Given the description of an element on the screen output the (x, y) to click on. 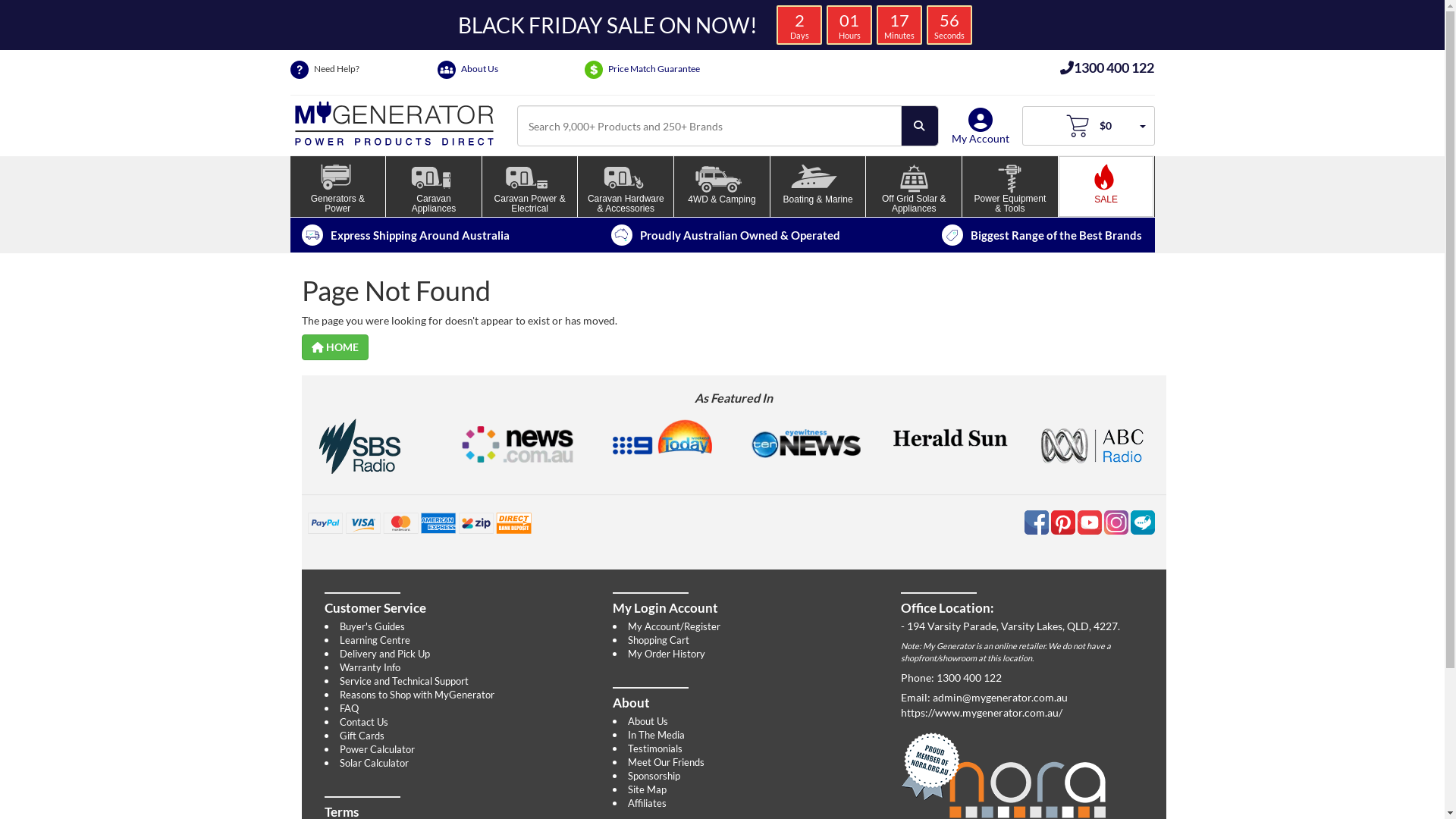
Reasons to Shop with MyGenerator Element type: text (416, 694)
Biggest Range of the Best Brands Element type: text (1041, 234)
Caravan Appliances Element type: text (433, 186)
Shopping Cart Element type: text (658, 639)
Site Map Element type: text (646, 789)
Search Element type: text (919, 125)
  Element type: text (1089, 520)
Sponsorship Element type: text (653, 775)
https://www.mygenerator.com.au/ Element type: text (1033, 712)
Meet Our Friends Element type: text (665, 762)
About Us Element type: text (647, 721)
Proudly Australian Owned & Operated Element type: text (725, 234)
Contact Us Element type: text (363, 721)
My Account/Register Element type: text (673, 626)
Follow us on Instagram Element type: hover (1117, 520)
$0 Element type: text (1088, 125)
Warranty Info Element type: text (369, 667)
Express Shipping Around Australia Element type: text (405, 234)
BLACK FRIDAY SALE ON NOW! Element type: text (607, 24)
Gift Cards Element type: text (361, 735)
  Element type: text (1117, 520)
admin@mygenerator.com.au Element type: text (999, 696)
Power Calculator Element type: text (376, 749)
Off Grid Solar & Appliances Element type: text (913, 186)
Price Match Guarantee Element type: text (655, 69)
Testimonials Element type: text (654, 748)
My Order History Element type: text (666, 653)
Learning Centre Element type: text (374, 639)
Service and Technical Support Element type: text (403, 680)
FAQ Element type: text (348, 708)
About Us Element type: text (508, 69)
  Element type: text (1036, 520)
Generators & Power Element type: text (337, 186)
Watch us on YouTube Element type: hover (1089, 520)
Caravan Hardware & Accessories Element type: text (625, 186)
4WD & Camping Element type: text (721, 186)
Solar Calculator Element type: text (373, 762)
My Generator on Pinterest Element type: hover (1064, 520)
My Account Element type: text (980, 131)
  Element type: text (1141, 520)
SALE Element type: text (1106, 186)
Join us on Facebook Element type: hover (1036, 520)
Affiliates Element type: text (646, 803)
My Generator  Element type: hover (393, 120)
Boating & Marine Element type: text (818, 186)
Power Equipment & Tools Element type: text (1009, 186)
Caravan Power & Electrical Element type: text (529, 186)
Delivery and Pick Up Element type: text (384, 653)
In The Media Element type: text (655, 734)
Buyer's Guides Element type: text (371, 626)
  Element type: text (1064, 520)
1300 400 122 Element type: text (1099, 67)
Mygenerator Blog Element type: hover (1141, 520)
HOME Element type: text (334, 347)
